Given the description of an element on the screen output the (x, y) to click on. 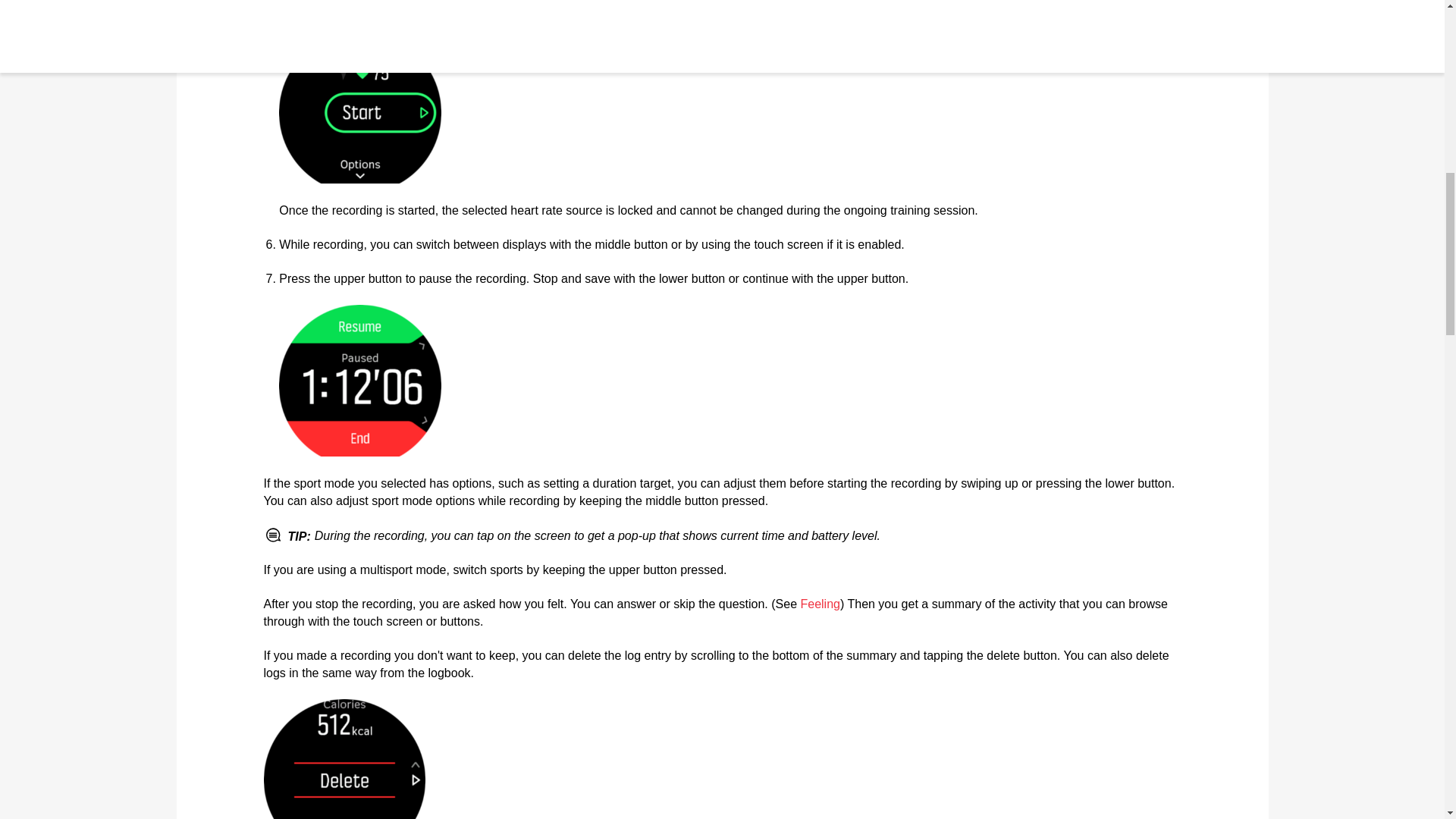
Feeling (819, 603)
